Given the description of an element on the screen output the (x, y) to click on. 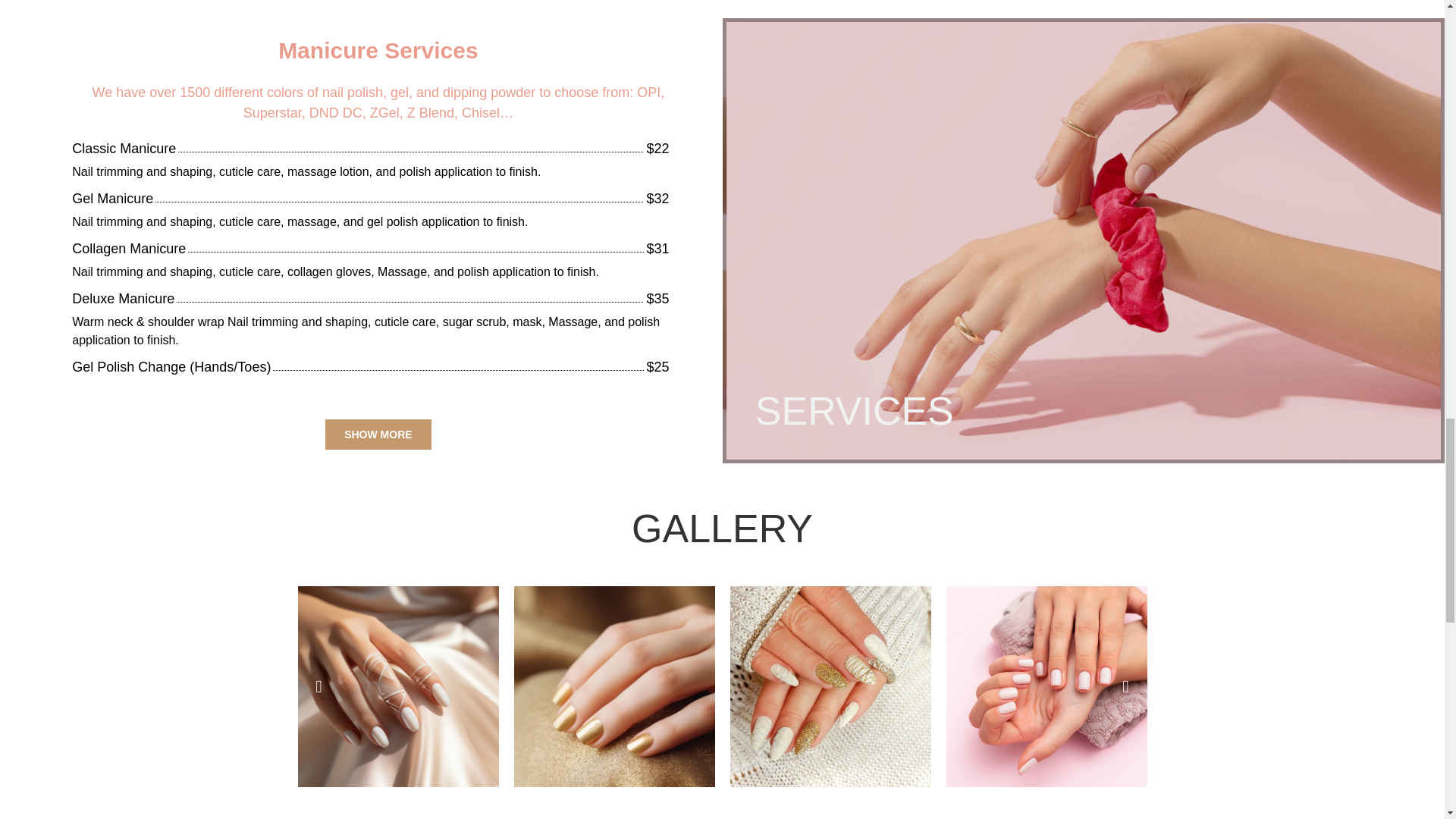
SHOW MORE (377, 434)
